Given the description of an element on the screen output the (x, y) to click on. 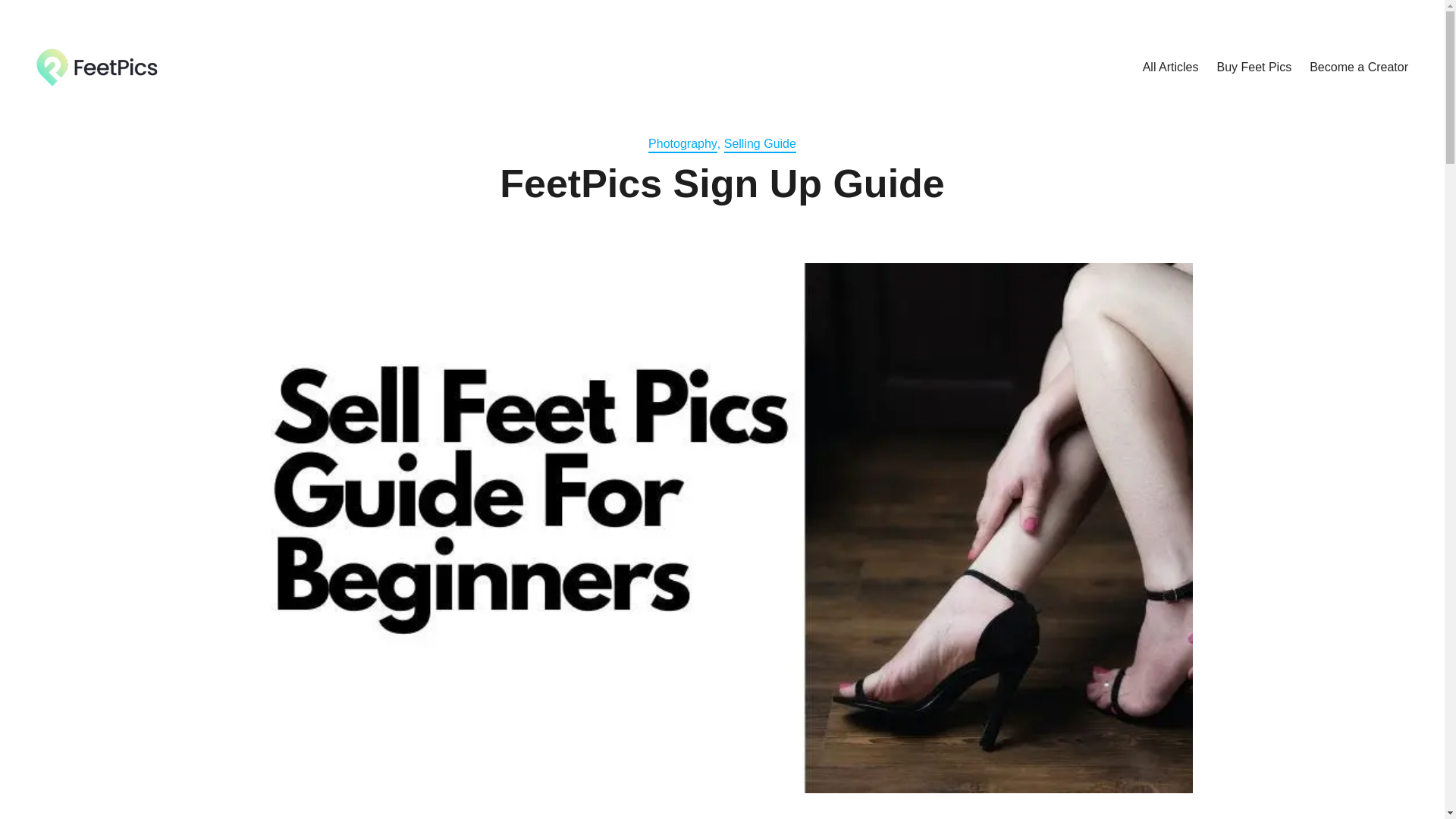
Selling Guide (759, 144)
Buy Feet Pics (1253, 67)
All Articles (1171, 67)
Skip to content (20, 17)
Photography (682, 144)
Become a Creator (1358, 67)
